Given the description of an element on the screen output the (x, y) to click on. 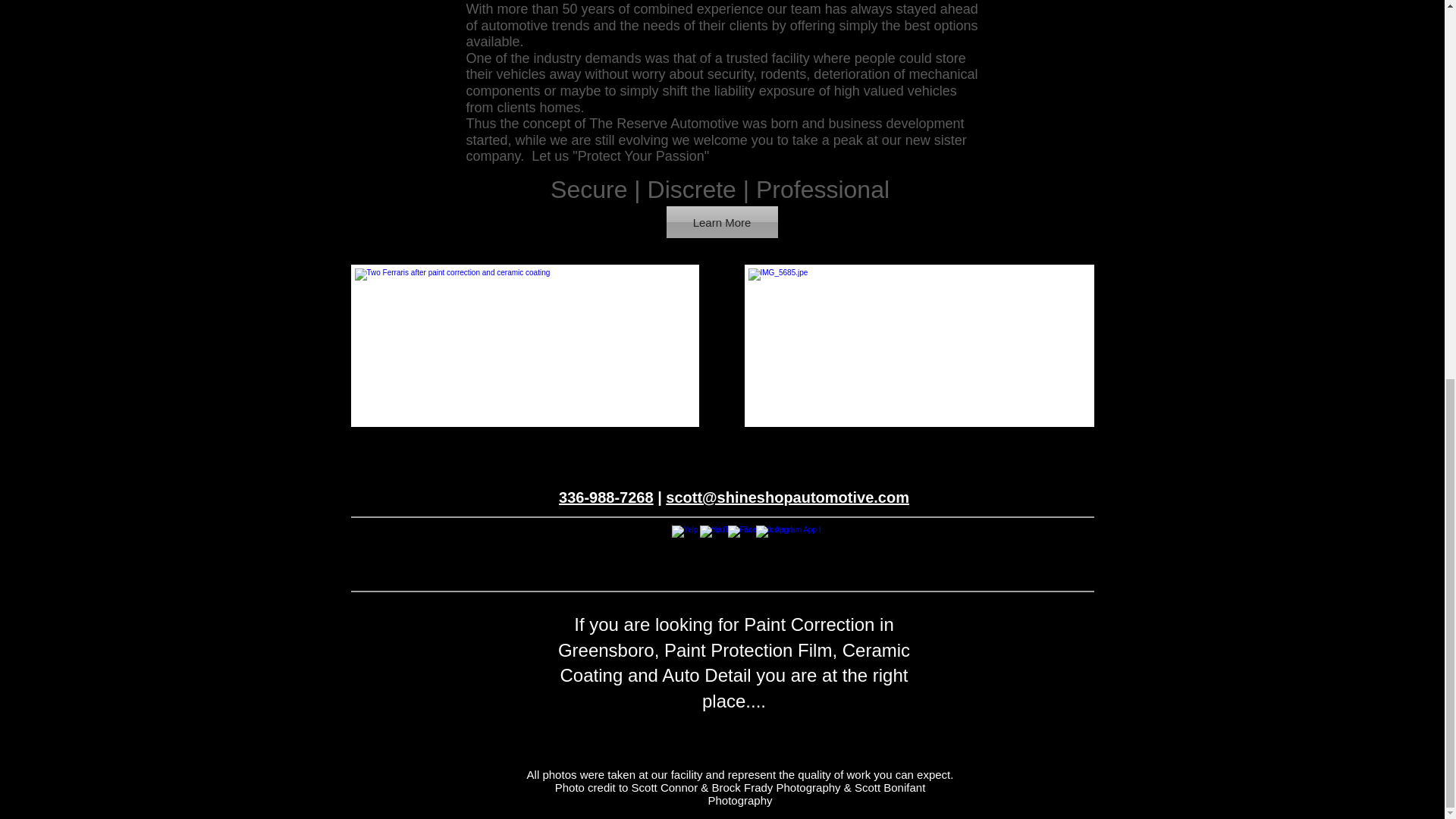
336-988-7268 (606, 497)
Learn More (721, 222)
